Given the description of an element on the screen output the (x, y) to click on. 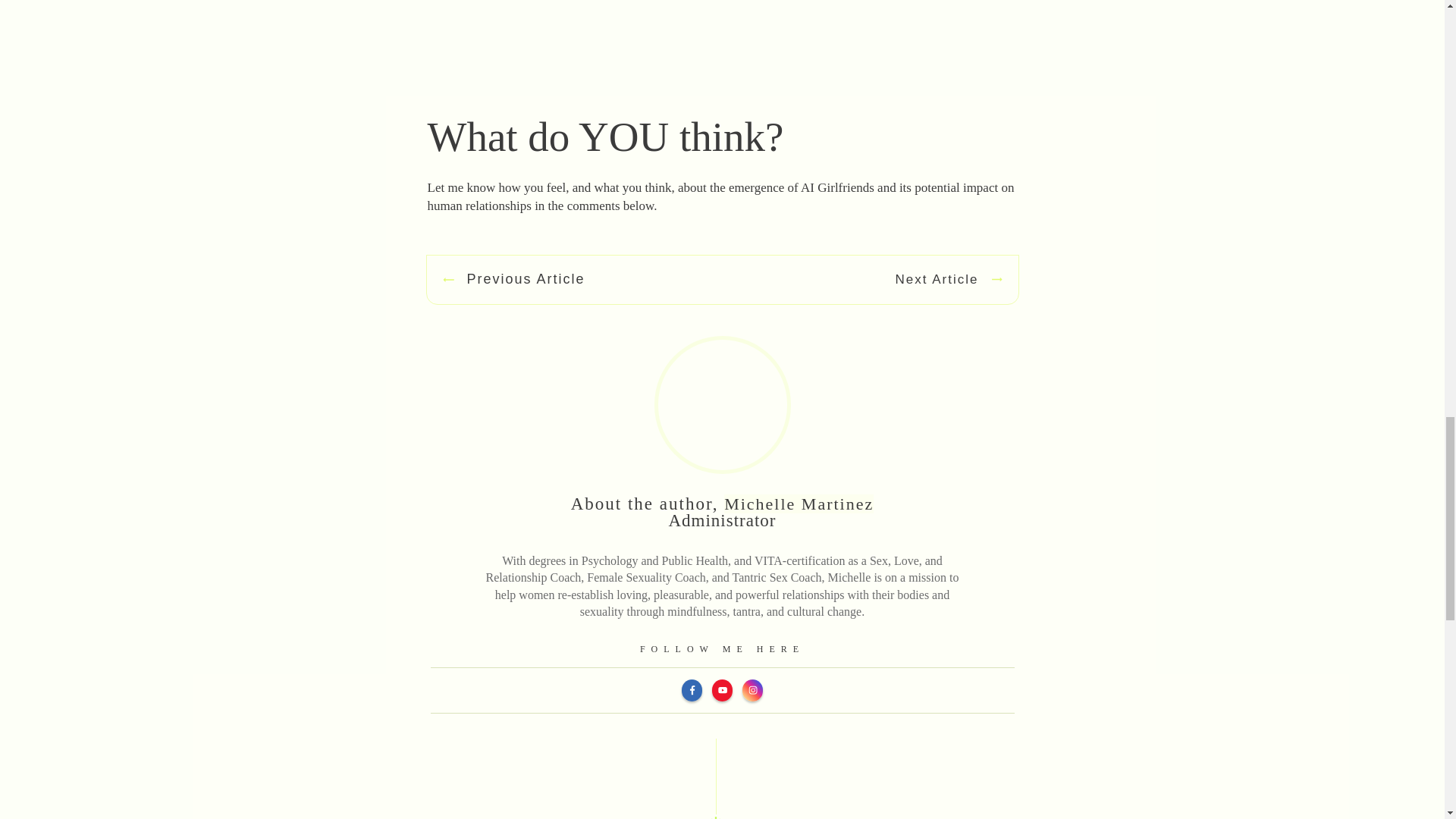
Next Article (949, 279)
Michelle Martinez (798, 503)
Michelle Martinez (798, 503)
Previous Article (513, 280)
Responsive Video (722, 49)
